Given the description of an element on the screen output the (x, y) to click on. 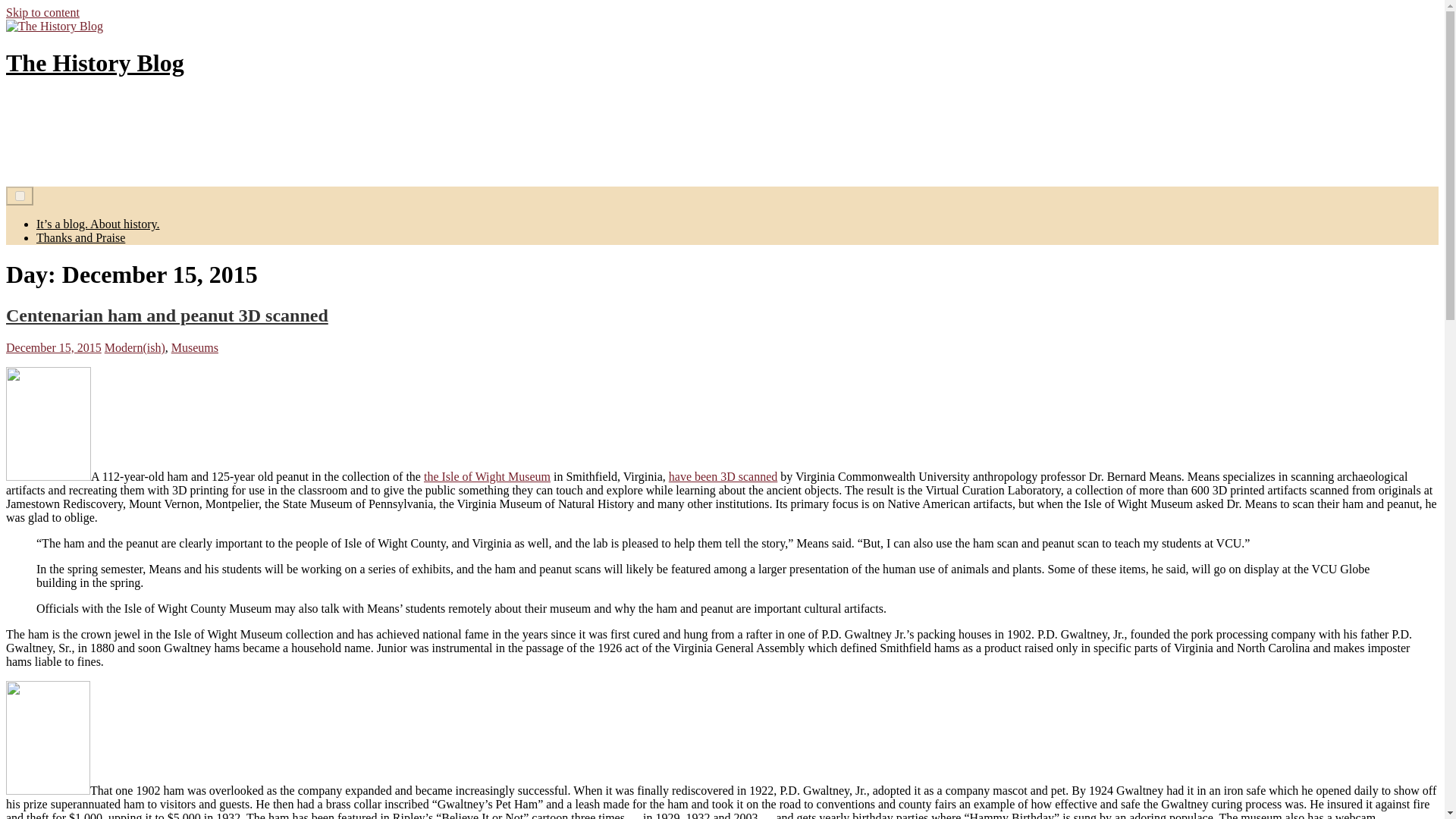
December 15, 2015 (53, 347)
Centenarian ham and peanut 3D scanned (167, 315)
the Isle of Wight Museum (486, 476)
Skip to content (42, 11)
Museums (194, 347)
have been 3D scanned (722, 476)
The History Blog (94, 62)
on (19, 195)
Thanks and Praise (80, 237)
